Given the description of an element on the screen output the (x, y) to click on. 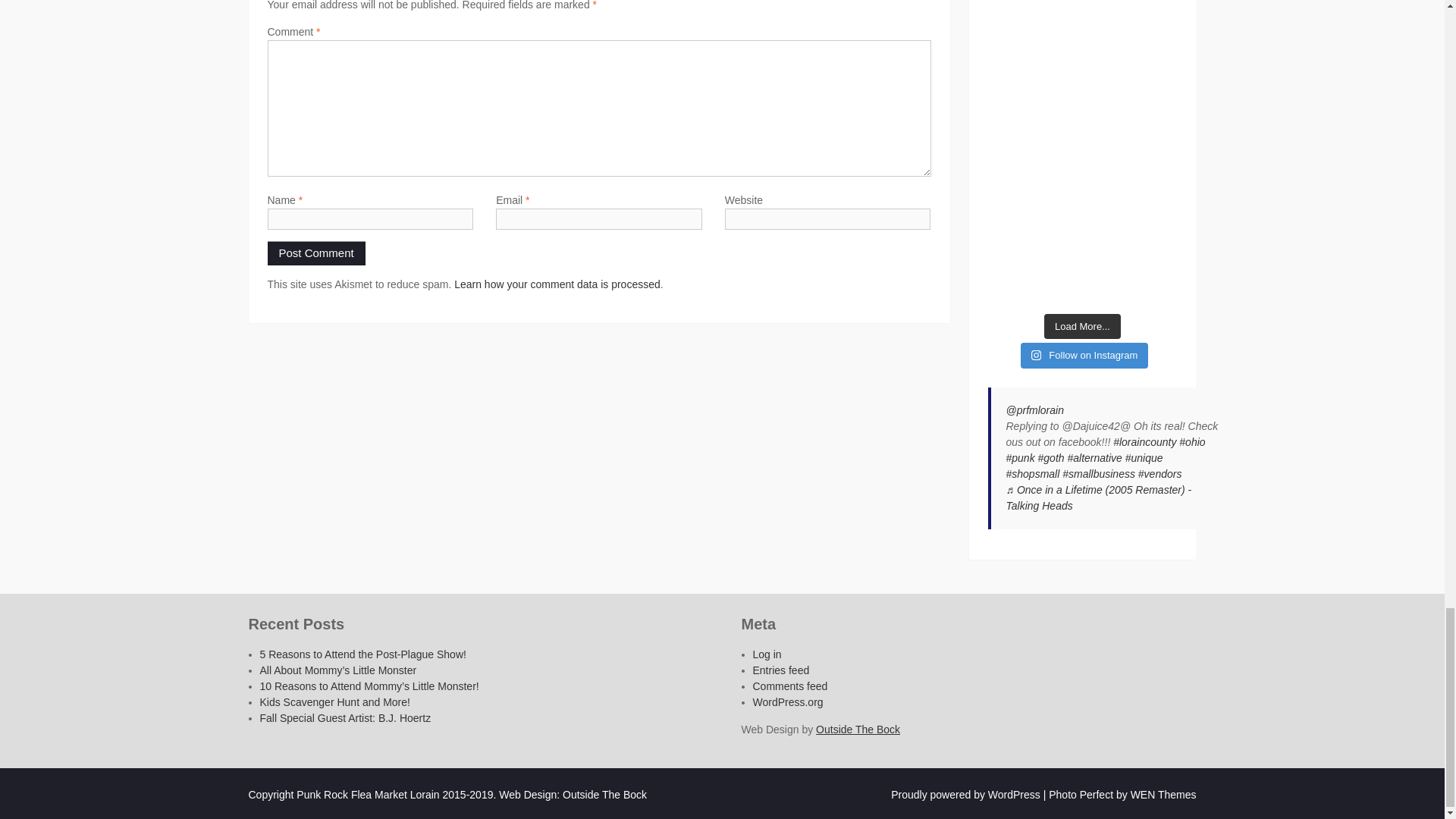
alternative (1094, 458)
punk (1019, 458)
Post Comment (315, 253)
vendors (1160, 473)
loraincounty (1144, 441)
smallbusiness (1098, 473)
goth (1051, 458)
unique (1144, 458)
shopsmall (1032, 473)
ohio (1192, 441)
